Given the description of an element on the screen output the (x, y) to click on. 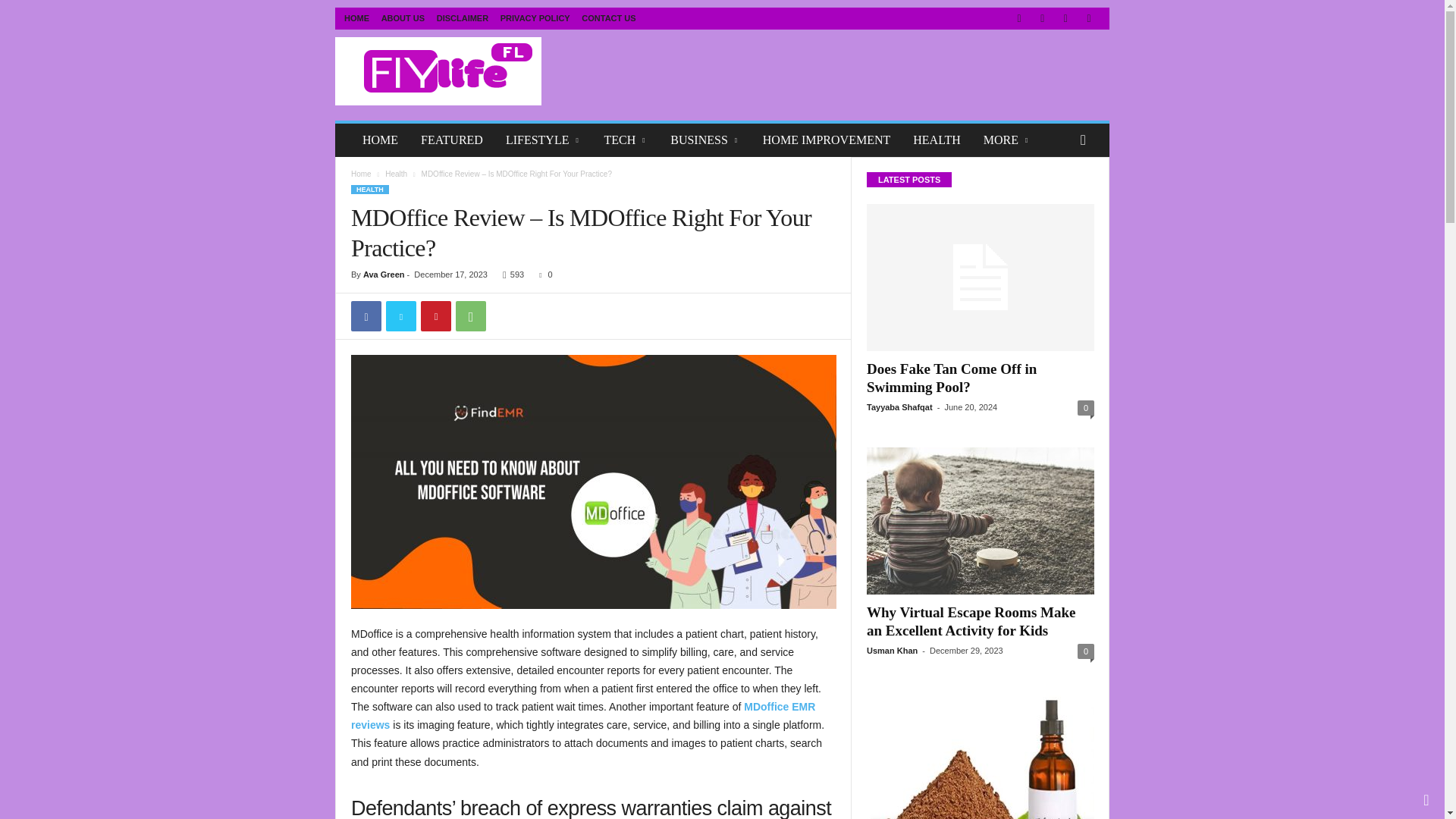
Facebook (365, 316)
CONTACT US (607, 17)
Twitter (400, 316)
HOME (379, 140)
WhatsApp (470, 316)
FIY Life (437, 70)
DISCLAIMER (461, 17)
Pinterest (435, 316)
mdoffice (592, 481)
HOME (356, 17)
View all posts in Health (396, 173)
ABOUT US (403, 17)
PRIVACY POLICY (535, 17)
